Given the description of an element on the screen output the (x, y) to click on. 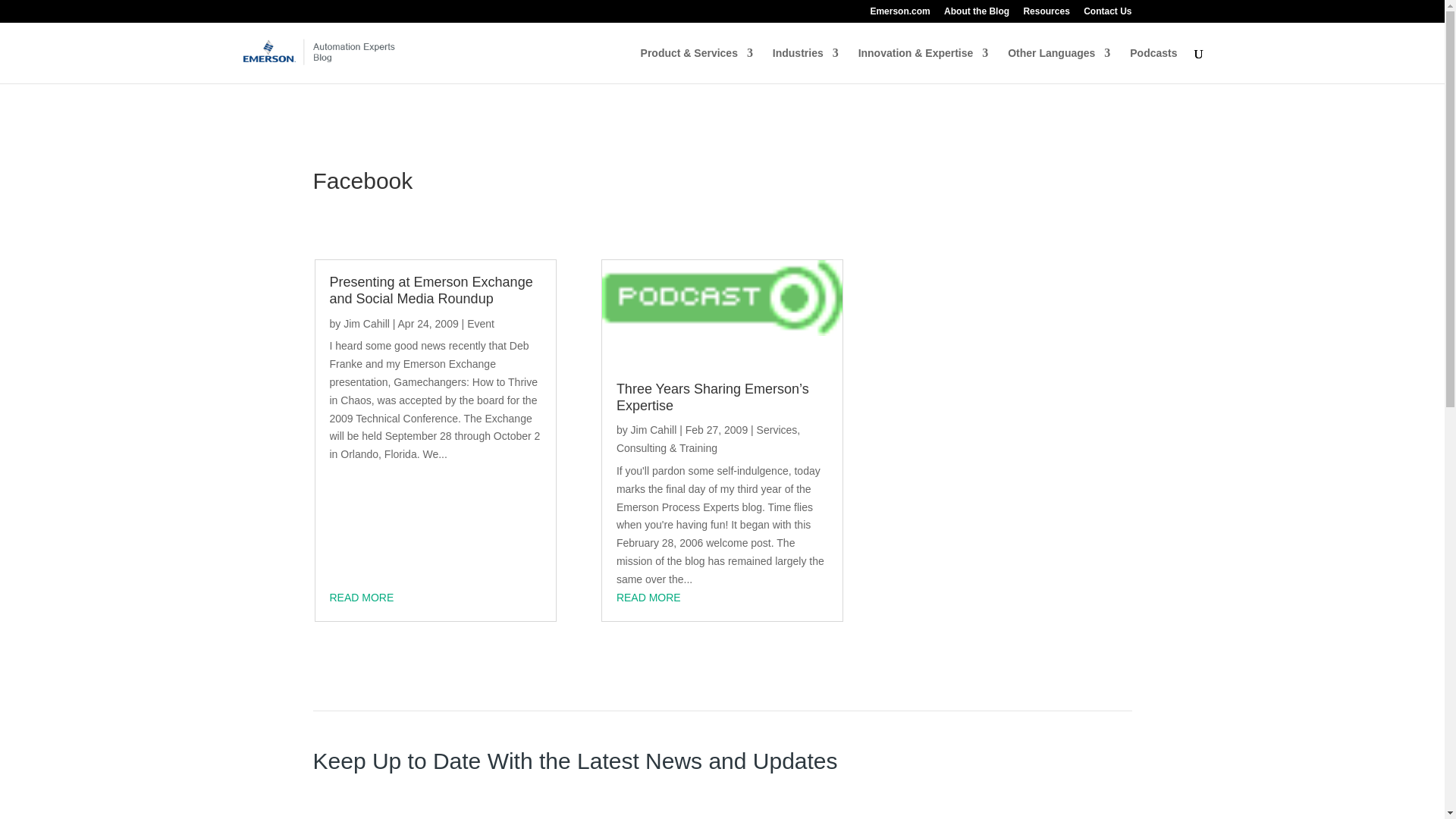
About the Blog (976, 14)
Posts by Jim Cahill (653, 429)
Industries (805, 65)
Resources (1045, 14)
Contact Us (1107, 14)
Emerson.com (899, 14)
Posts by Jim Cahill (366, 323)
